Given the description of an element on the screen output the (x, y) to click on. 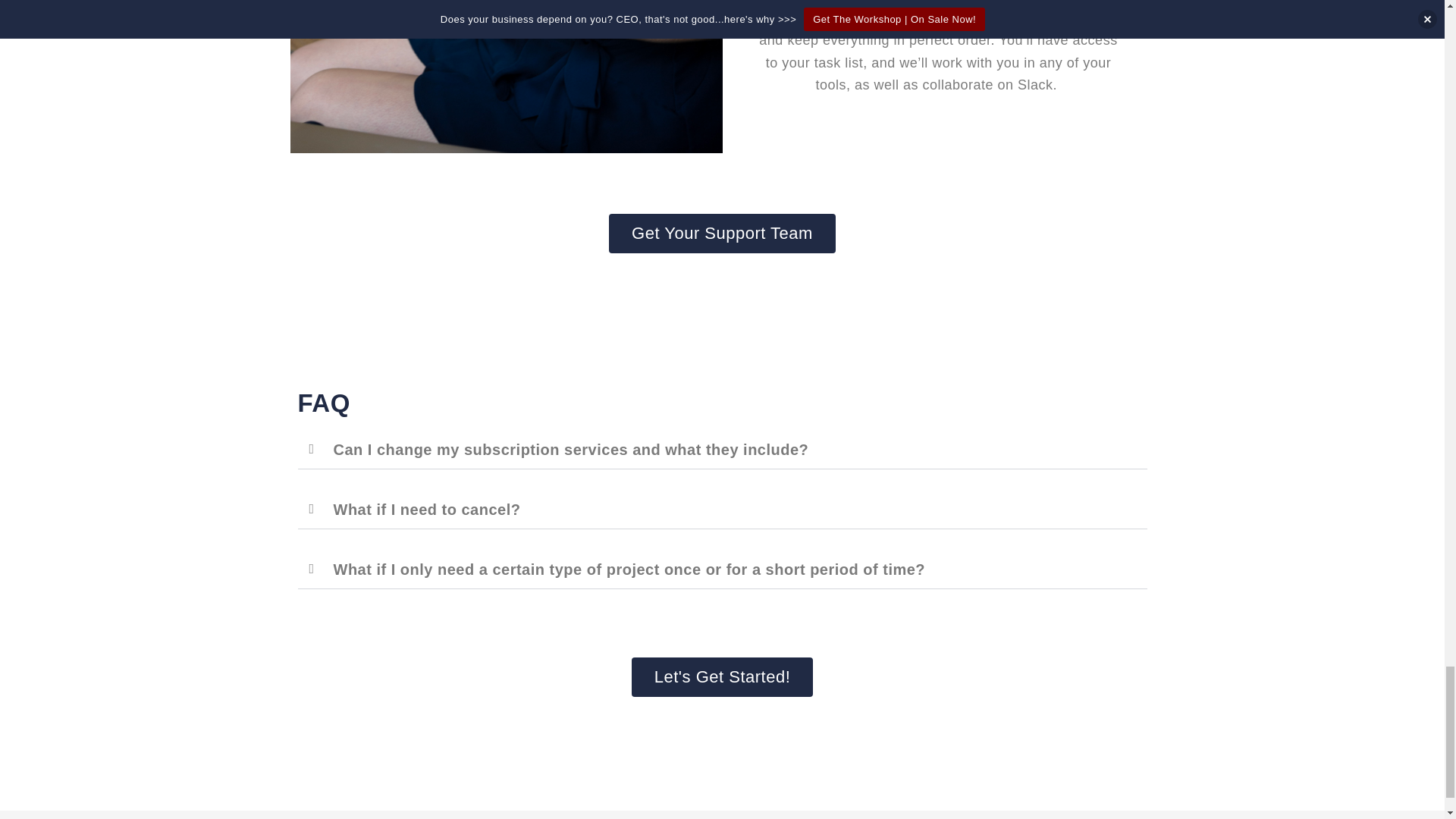
What if I need to cancel? (427, 509)
Can I change my subscription services and what they include? (571, 449)
Get Your Support Team (721, 233)
Let's Get Started! (722, 676)
